Given the description of an element on the screen output the (x, y) to click on. 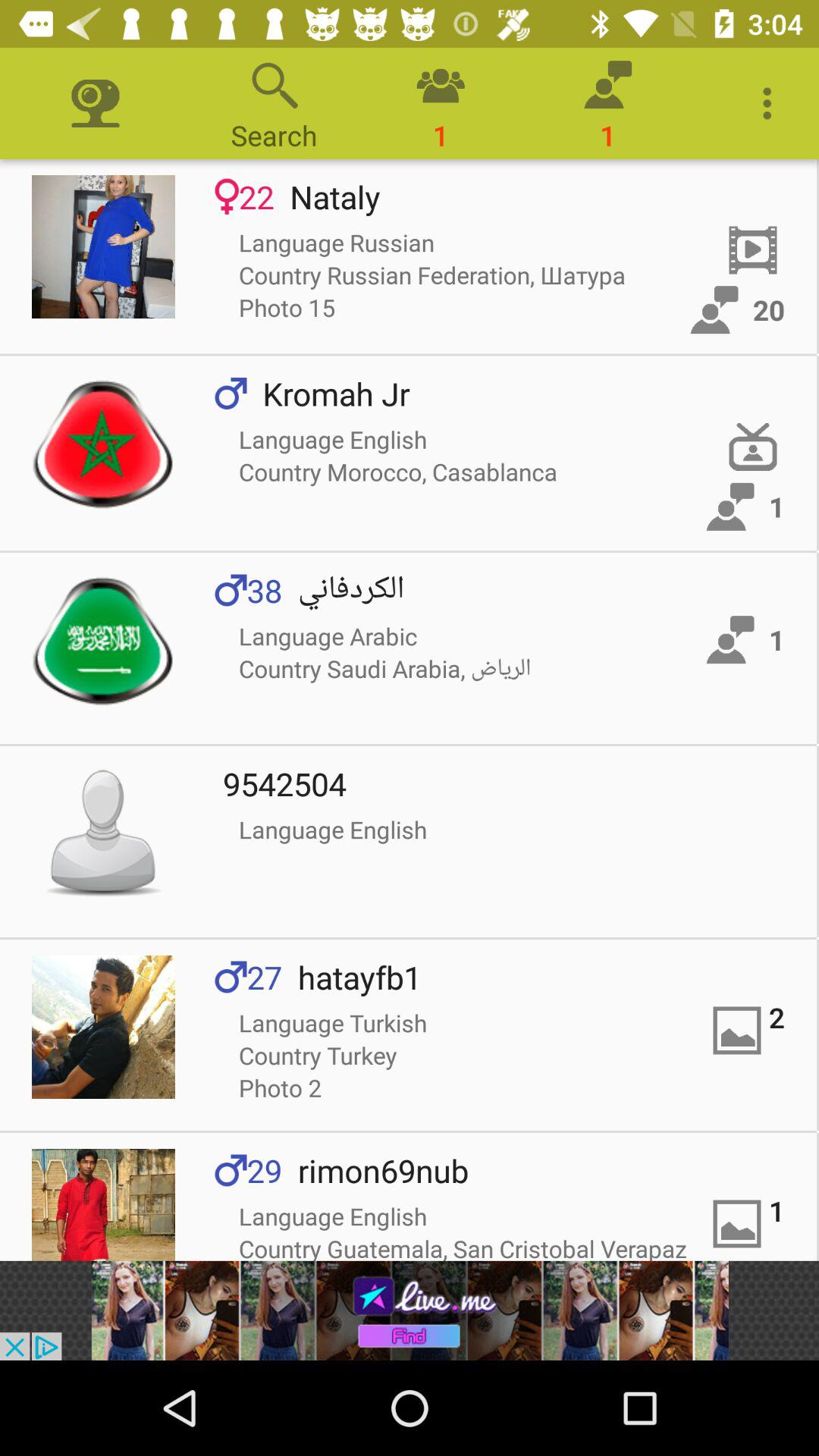
open picture (103, 1026)
